Given the description of an element on the screen output the (x, y) to click on. 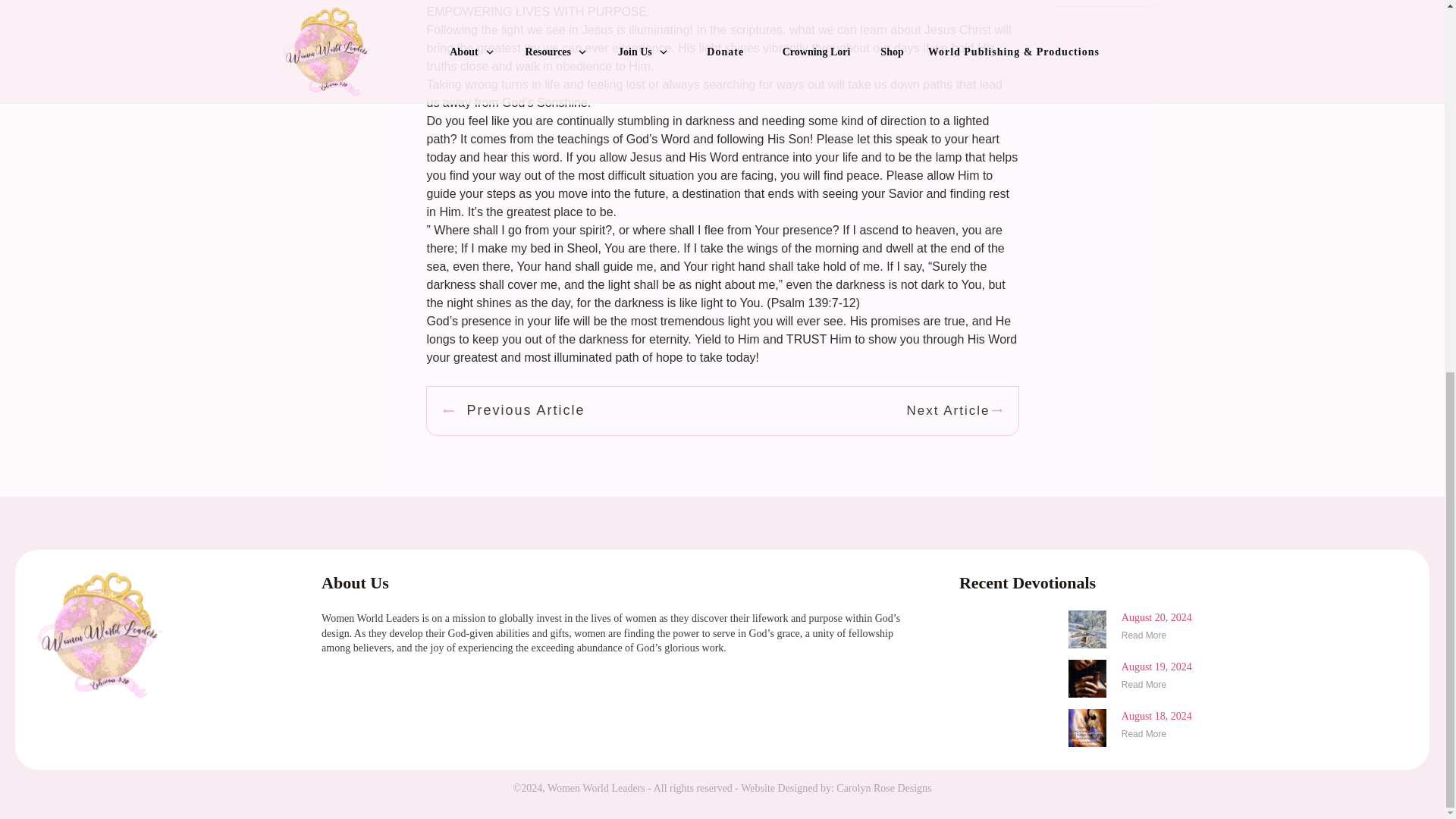
August 19, 2024 (1156, 666)
August 20, 2024 (1156, 617)
August 18, 2024 (1156, 715)
